Given the description of an element on the screen output the (x, y) to click on. 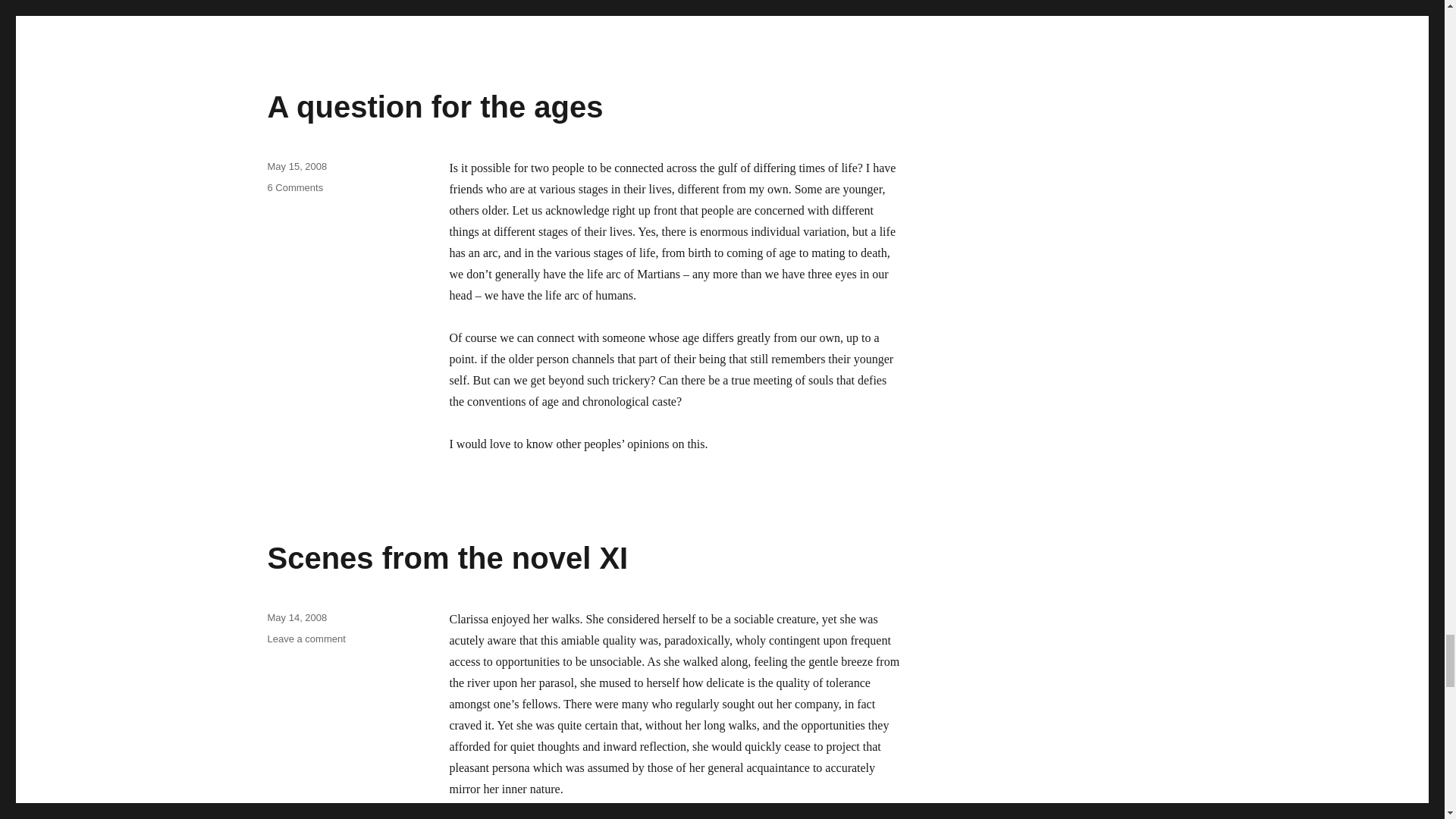
A question for the ages (434, 106)
May 14, 2008 (296, 617)
May 15, 2008 (296, 165)
Scenes from the novel XI (305, 638)
